Given the description of an element on the screen output the (x, y) to click on. 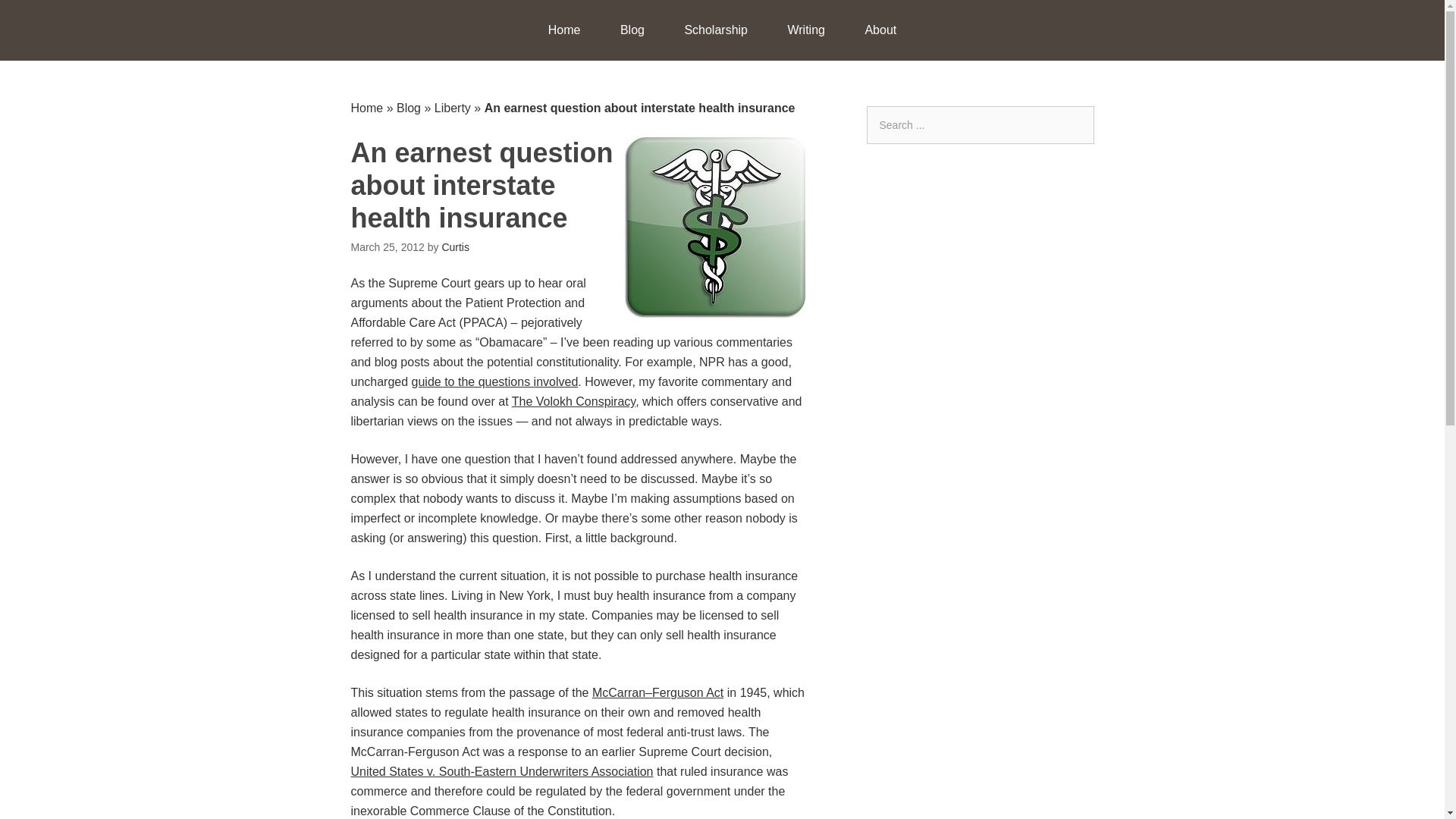
About (879, 30)
Curtis (454, 246)
guide to the questions involved (495, 381)
Posts by Curtis (454, 246)
Liberty (451, 107)
Sunday, March 25, 2012, 4:37 pm (386, 246)
Home (563, 30)
Search for: (979, 125)
Home (366, 107)
Blog (632, 30)
Writing (805, 30)
Blog (408, 107)
United States v. South-Eastern Underwriters Association (501, 771)
Scholarship (715, 30)
The Volokh Conspiracy (573, 400)
